Given the description of an element on the screen output the (x, y) to click on. 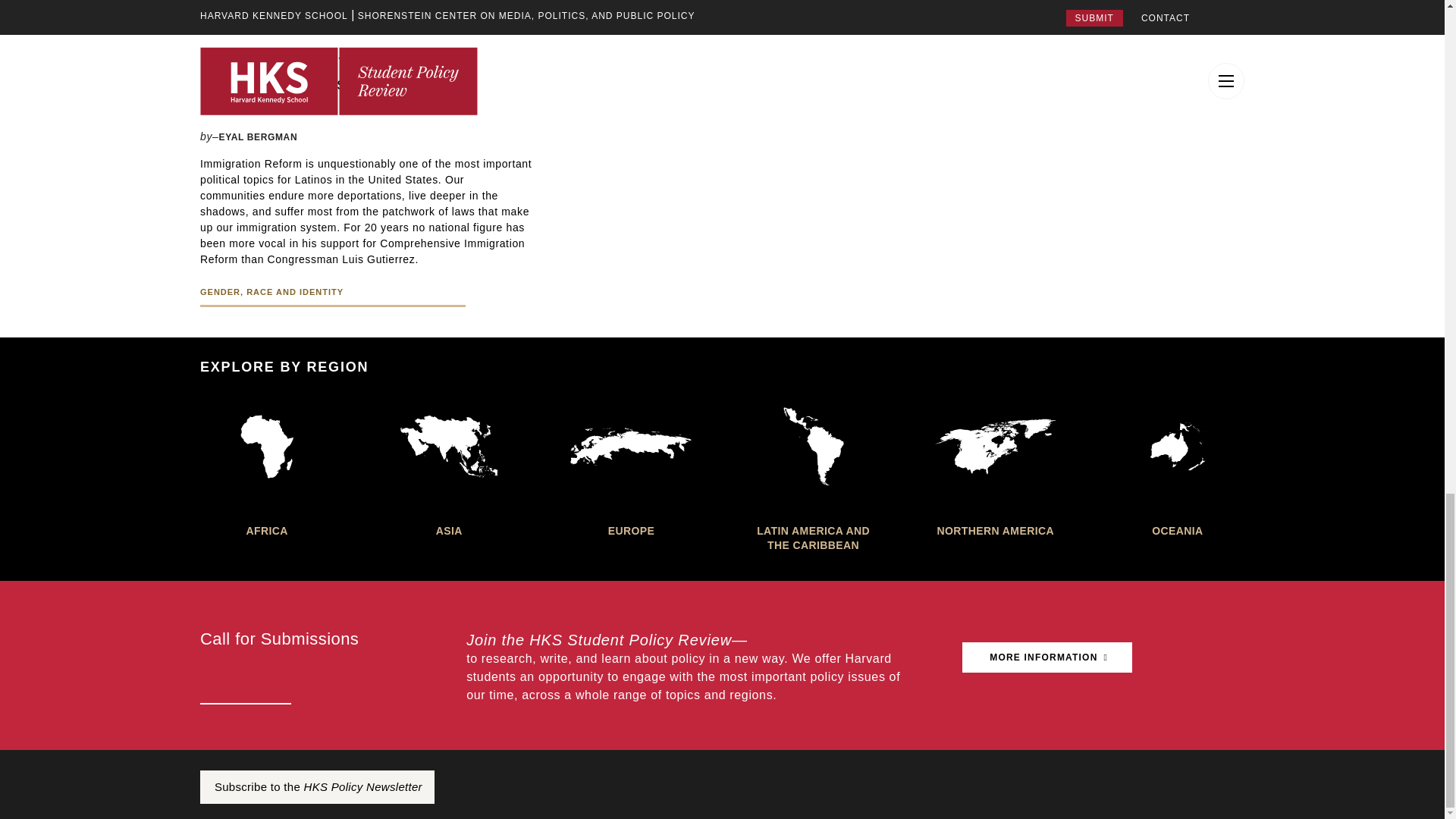
ASIA (448, 466)
Policy PodCast Interview with Congressman Luis Gutierrez (366, 72)
AFRICA (266, 466)
